Given the description of an element on the screen output the (x, y) to click on. 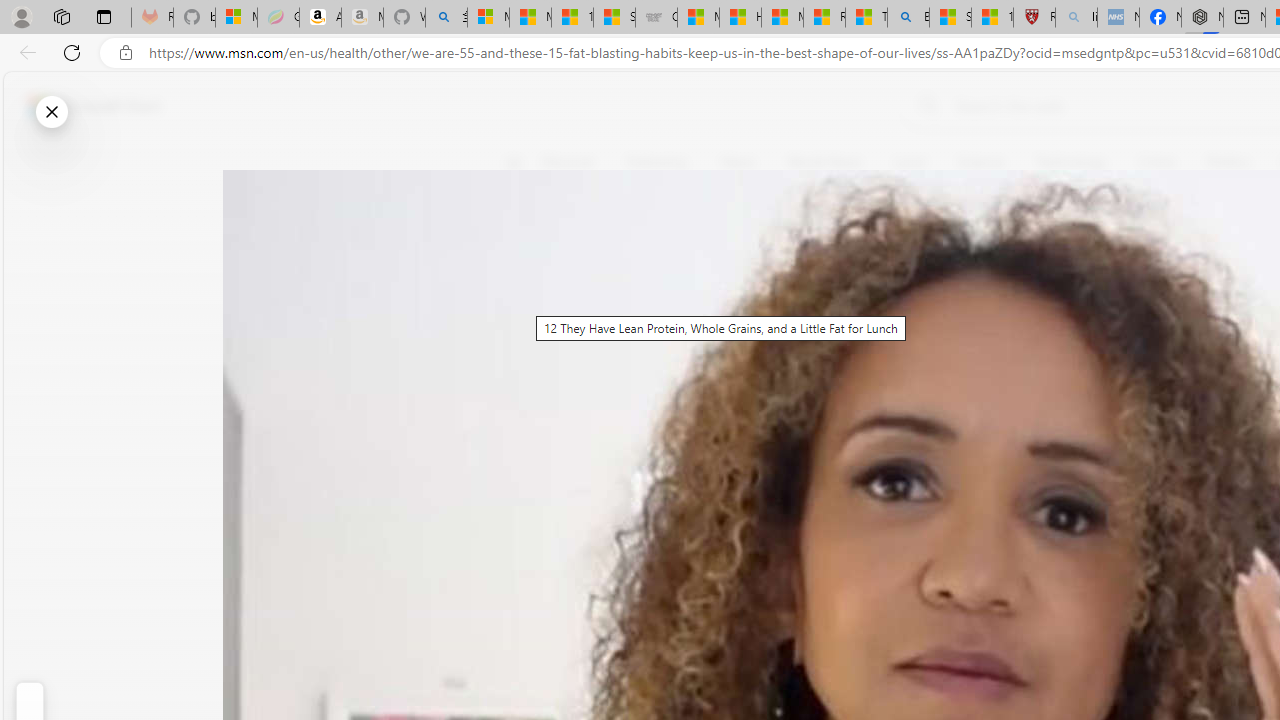
Crime (1156, 162)
Open navigation menu (513, 162)
6 (525, 300)
Politics (1228, 162)
